Given the description of an element on the screen output the (x, y) to click on. 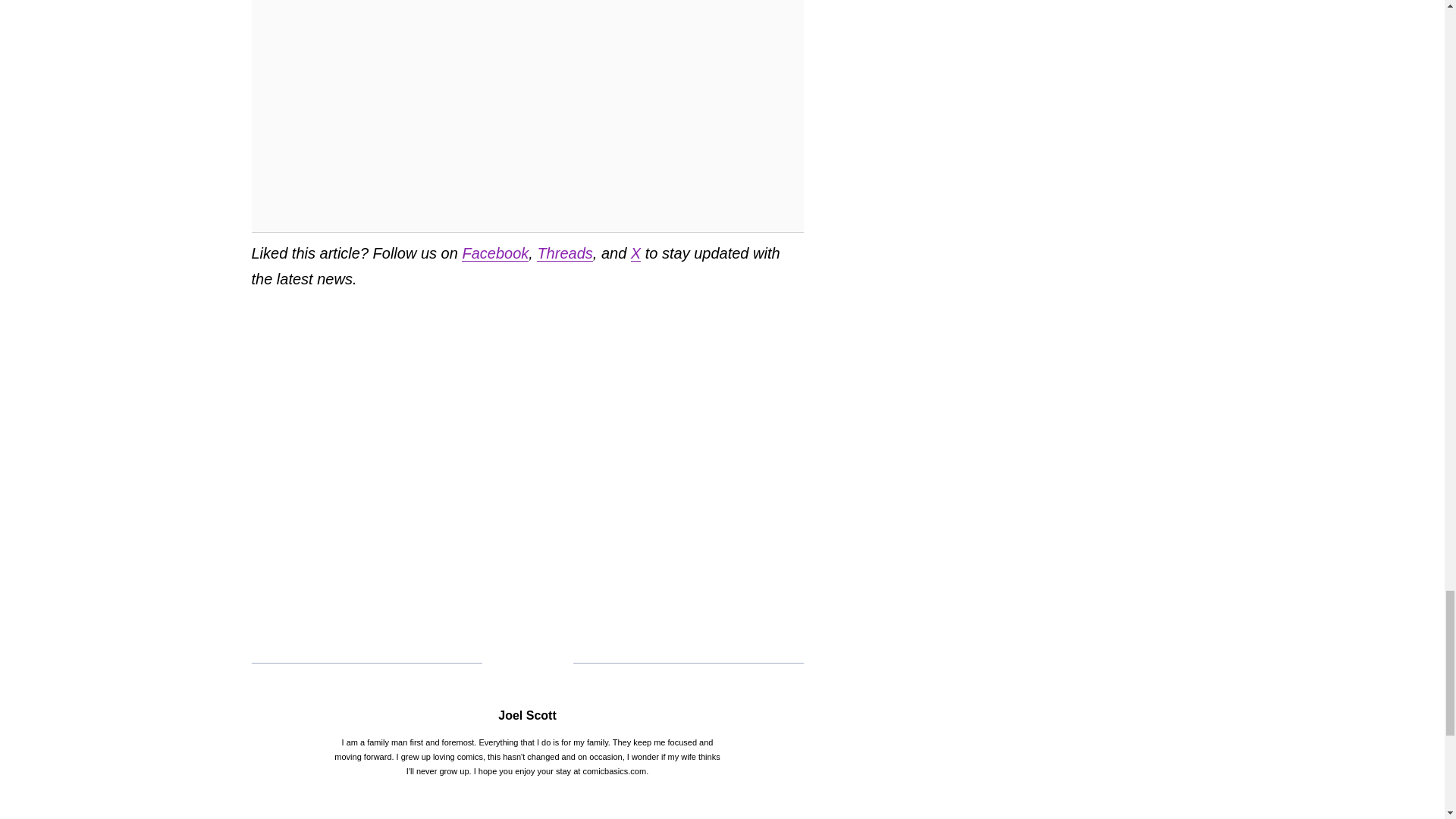
Posts by Joel Scott (526, 715)
